Given the description of an element on the screen output the (x, y) to click on. 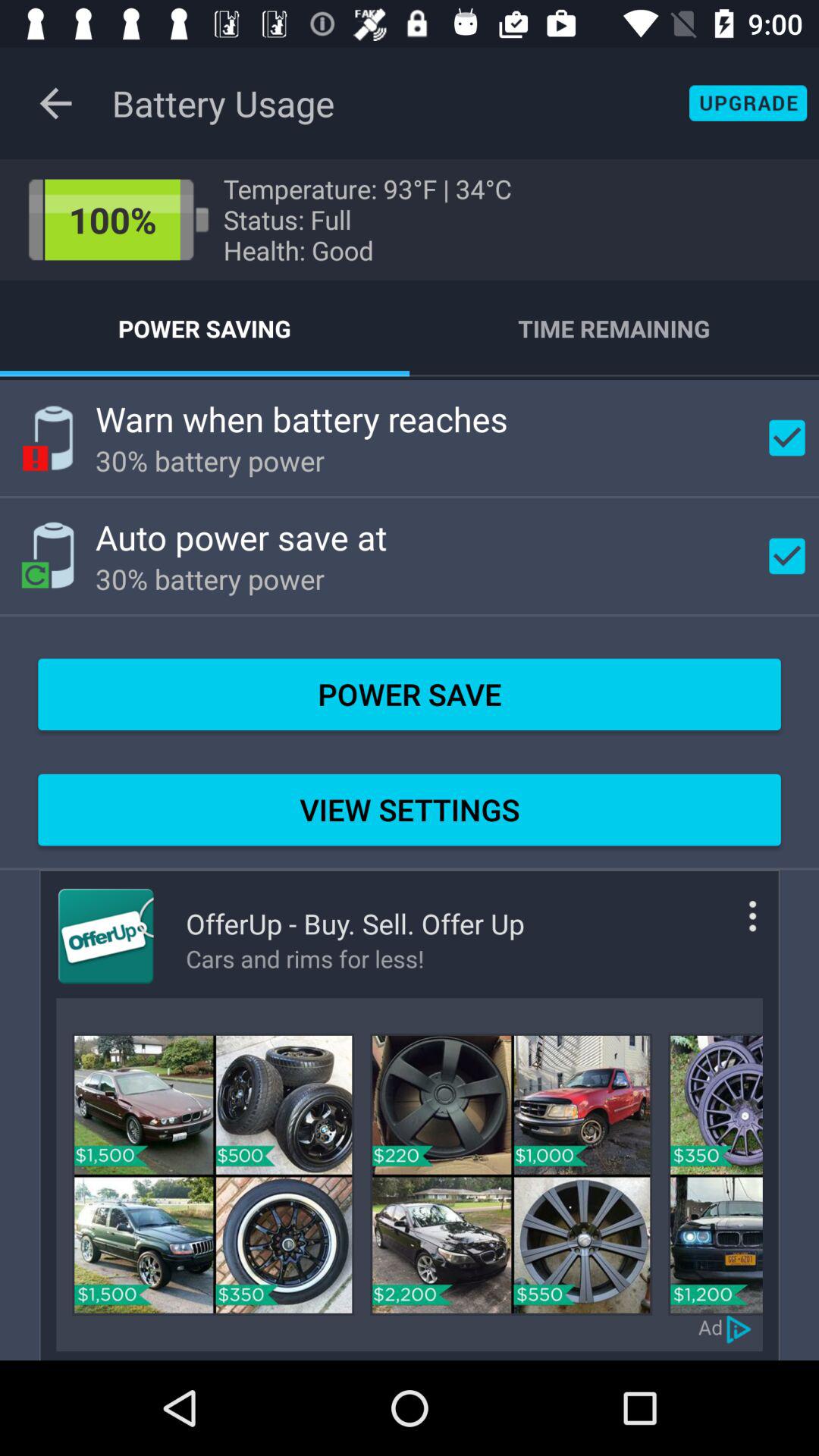
switch autoplay option (740, 1327)
